Given the description of an element on the screen output the (x, y) to click on. 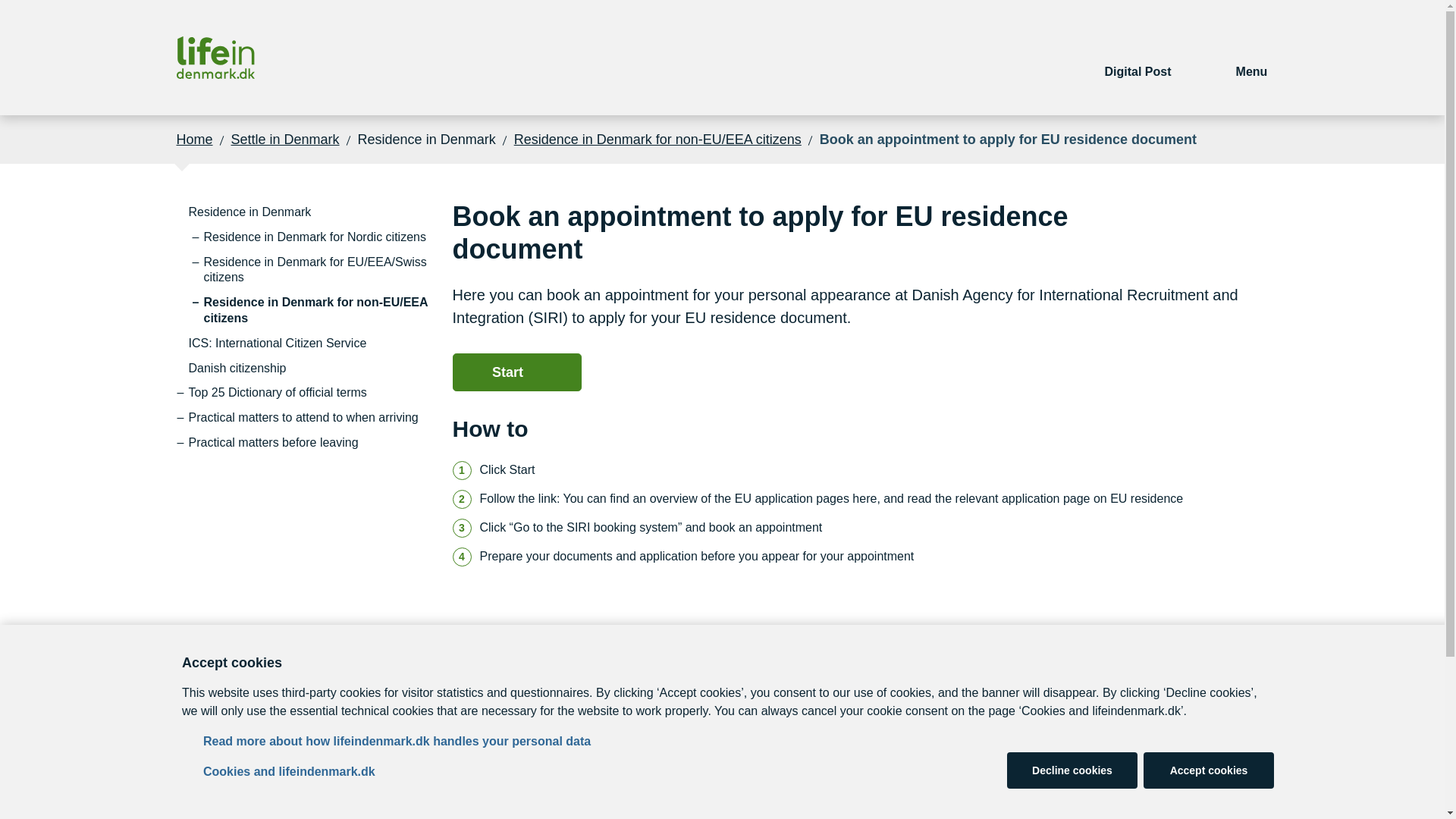
Accept cookies (1208, 770)
Decline cookies (1072, 770)
Settle in Denmark (285, 139)
Residence in Denmark for Nordic citizens (314, 237)
Residence in Denmark (249, 212)
Home (194, 139)
Digital Post (1138, 57)
